Given the description of an element on the screen output the (x, y) to click on. 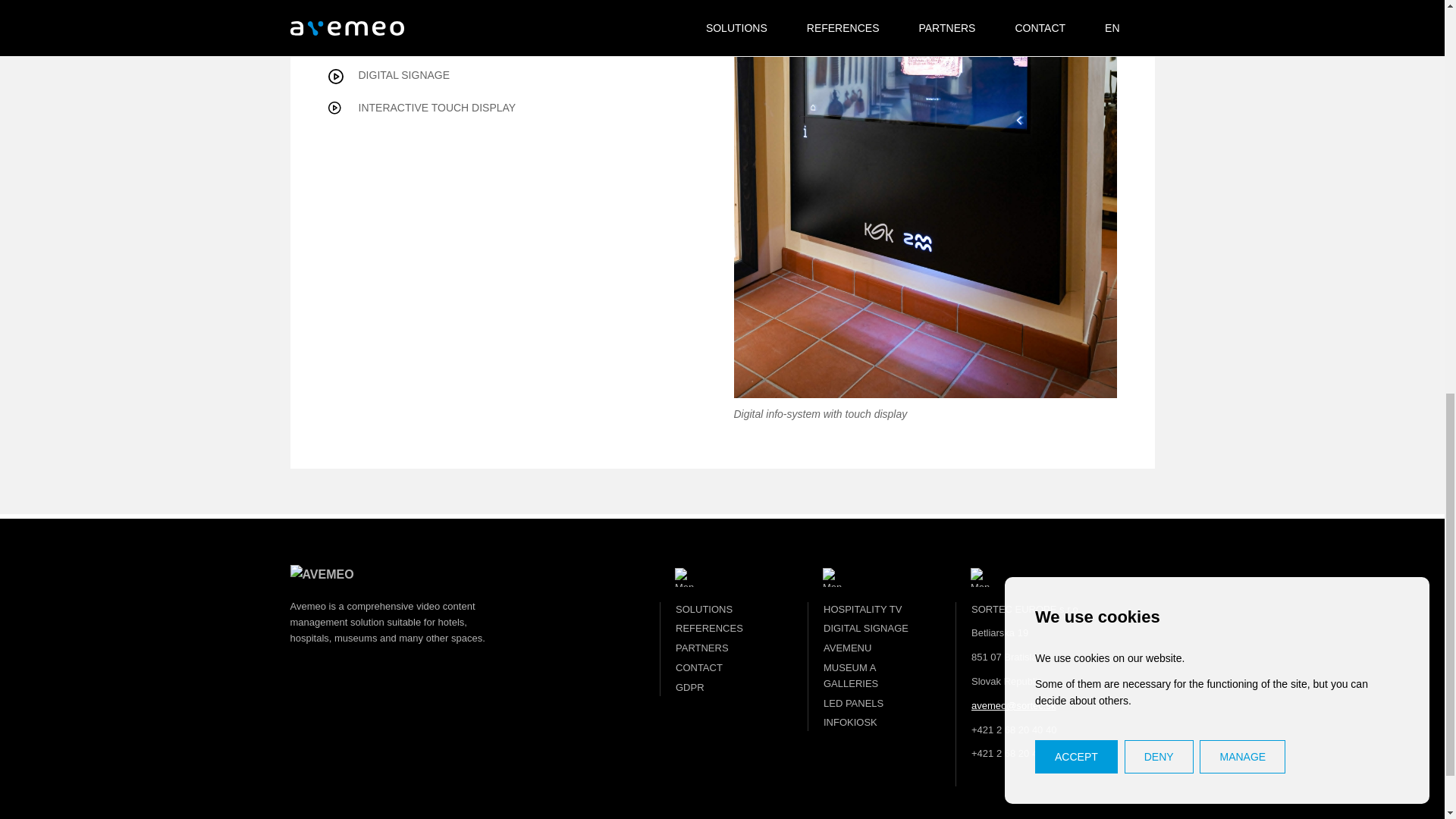
GDPR (689, 688)
PARTNERS (702, 649)
INFOKIOSK (850, 724)
MUSEUM A GALLERIES (850, 676)
LED PANELS (853, 704)
DIGITAL SIGNAGE (866, 630)
SOLUTIONS (703, 611)
HOSPITALITY TV (862, 611)
CONTACT (698, 669)
